Given the description of an element on the screen output the (x, y) to click on. 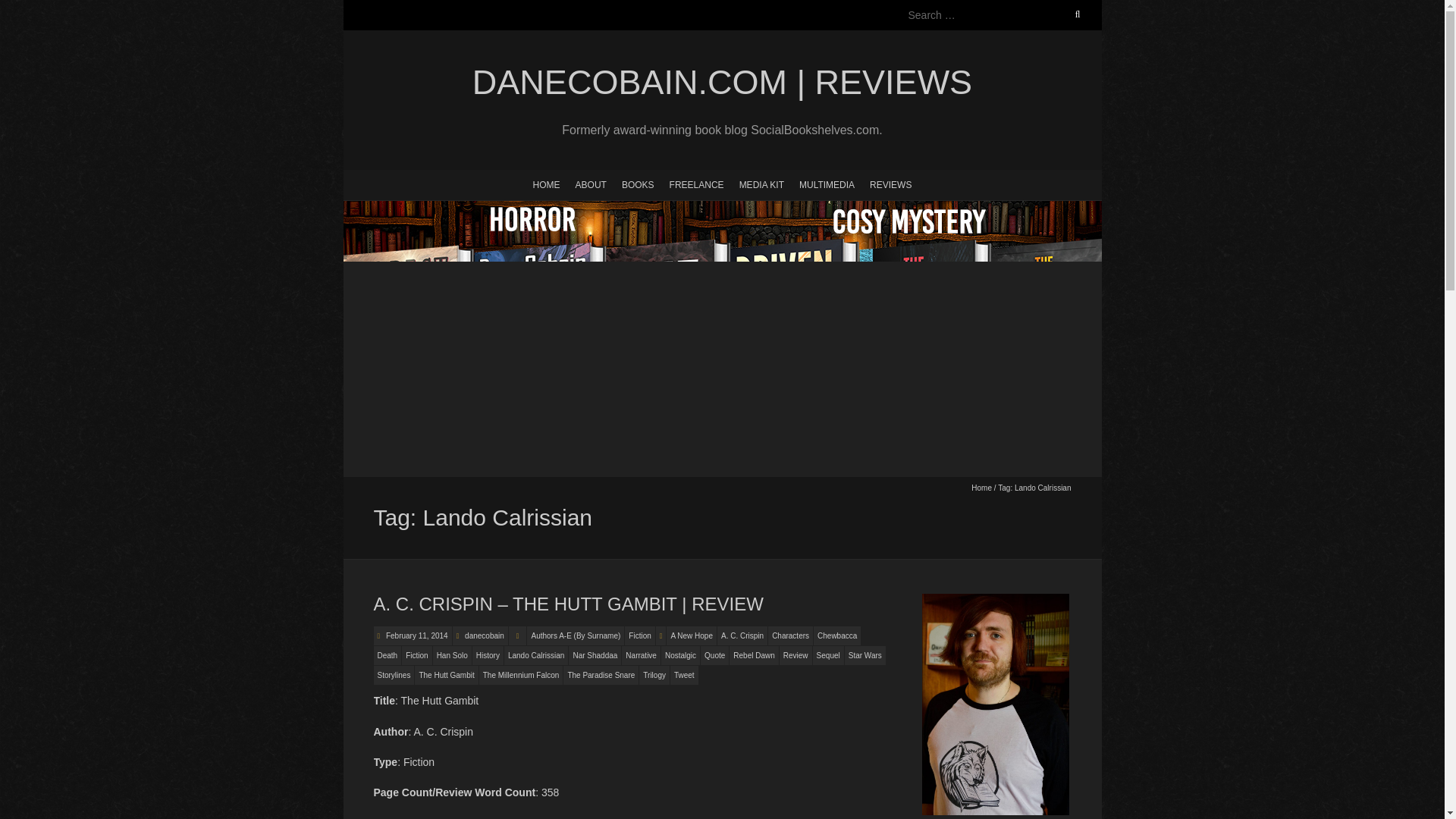
Fiction (415, 655)
Lando Calrissian (536, 655)
View all posts by danecobain (483, 635)
HOME (546, 184)
Home (981, 488)
Death (386, 655)
danecobain (483, 635)
FREELANCE (697, 184)
REVIEWS (889, 184)
A New Hope (691, 635)
